Given the description of an element on the screen output the (x, y) to click on. 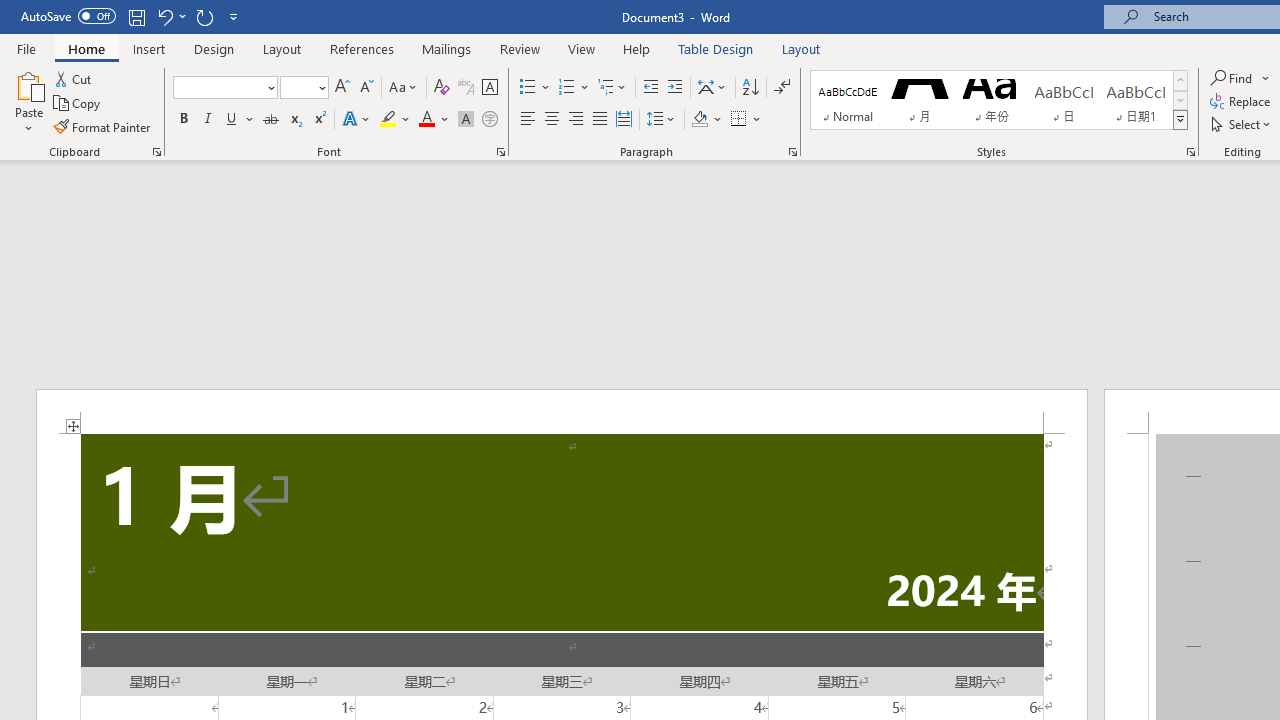
Select (1242, 124)
AutomationID: QuickStylesGallery (999, 99)
Align Left (527, 119)
Font Color (434, 119)
Row up (1179, 79)
Justify (599, 119)
Character Border (489, 87)
